Given the description of an element on the screen output the (x, y) to click on. 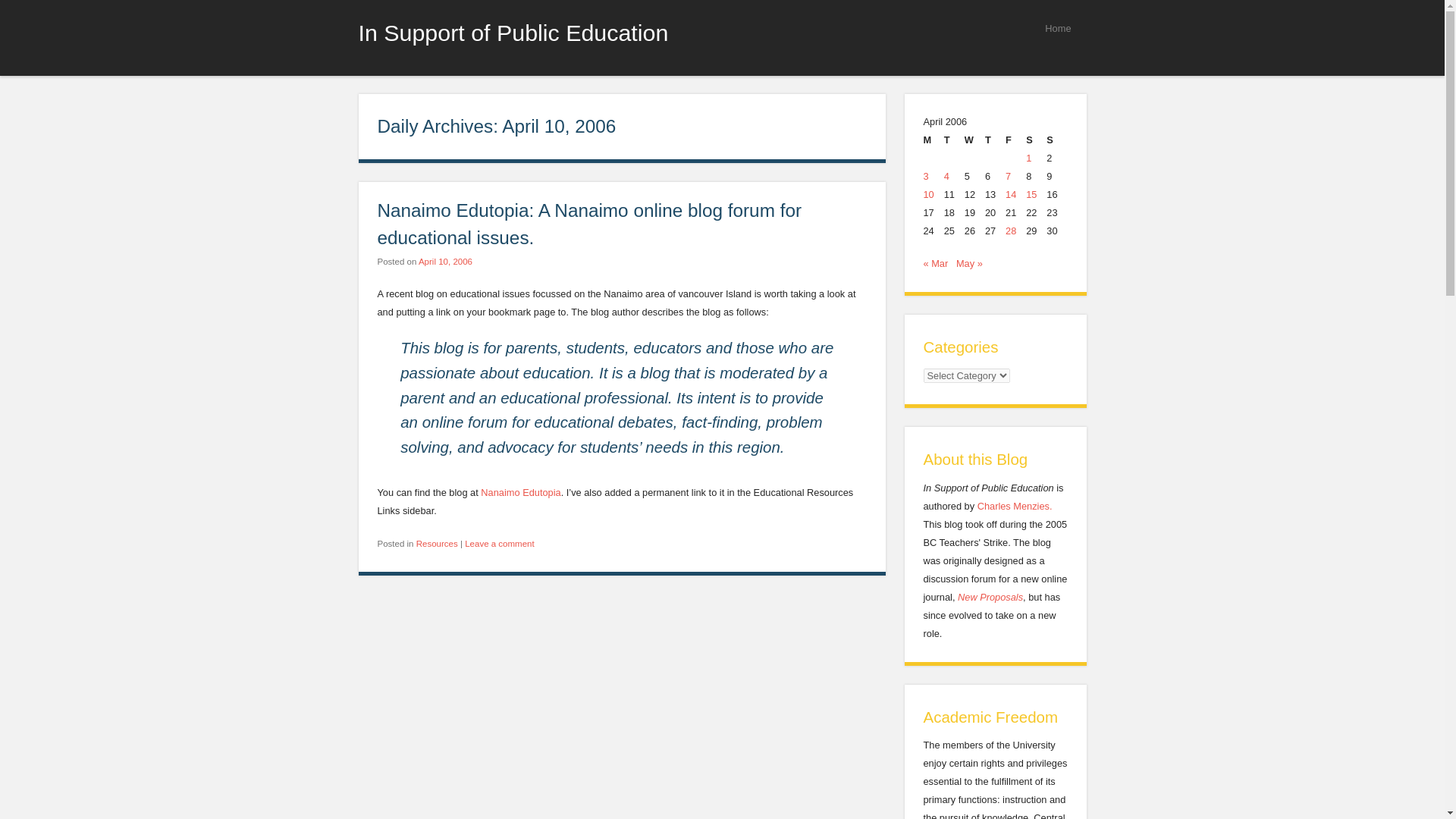
In Support of Public Education (513, 32)
Saturday (1036, 140)
In Support of Public Education (513, 32)
15 (1031, 194)
New Proposals (990, 596)
Thursday (995, 140)
7:23 am (445, 261)
Wednesday (974, 140)
Leave a comment (499, 542)
Home (1057, 27)
Skip to content (769, 27)
April 10, 2006 (445, 261)
Tuesday (953, 140)
Skip to content (769, 27)
Friday (1016, 140)
